Given the description of an element on the screen output the (x, y) to click on. 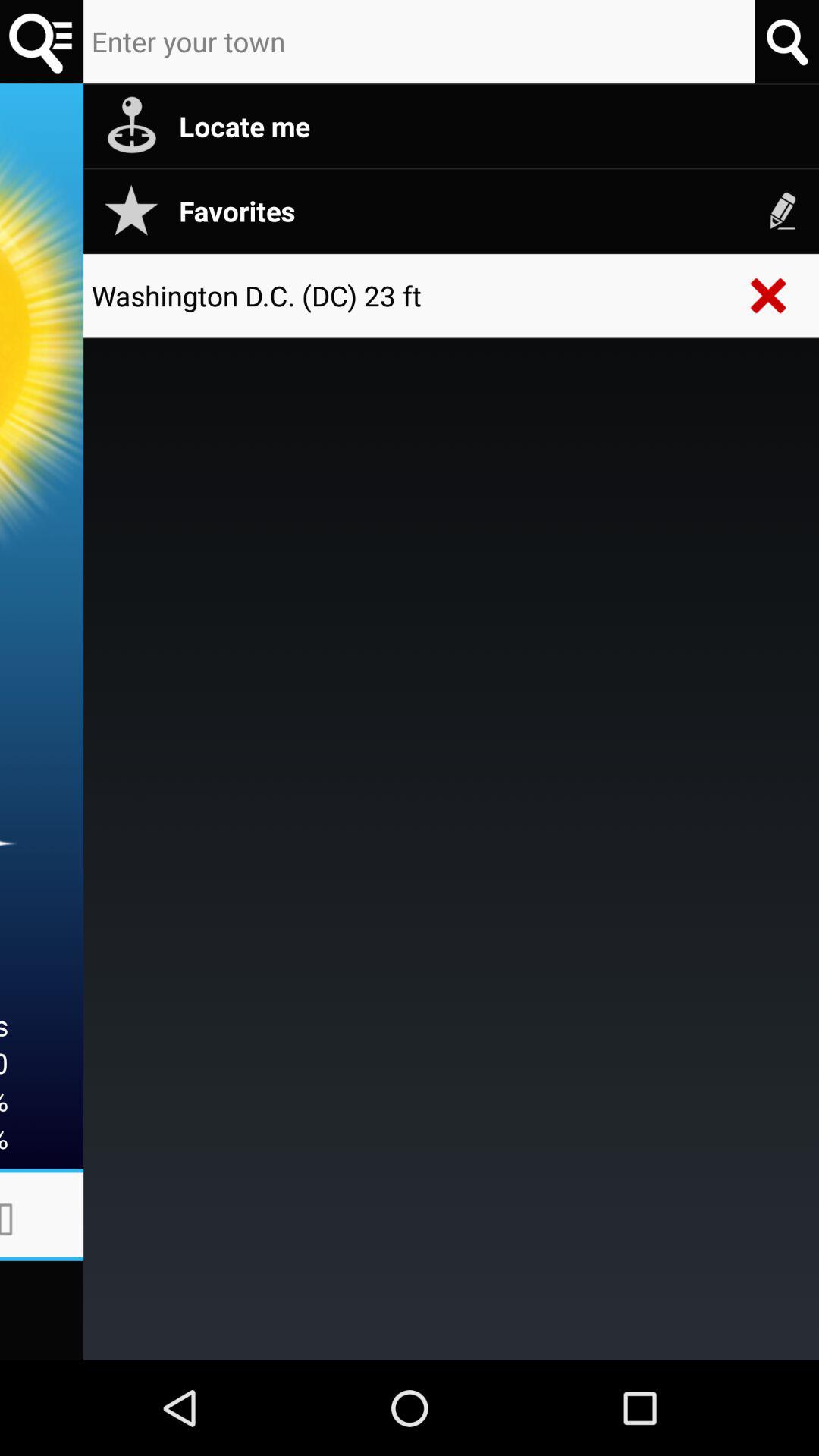
jump until the favorites icon (491, 210)
